Given the description of an element on the screen output the (x, y) to click on. 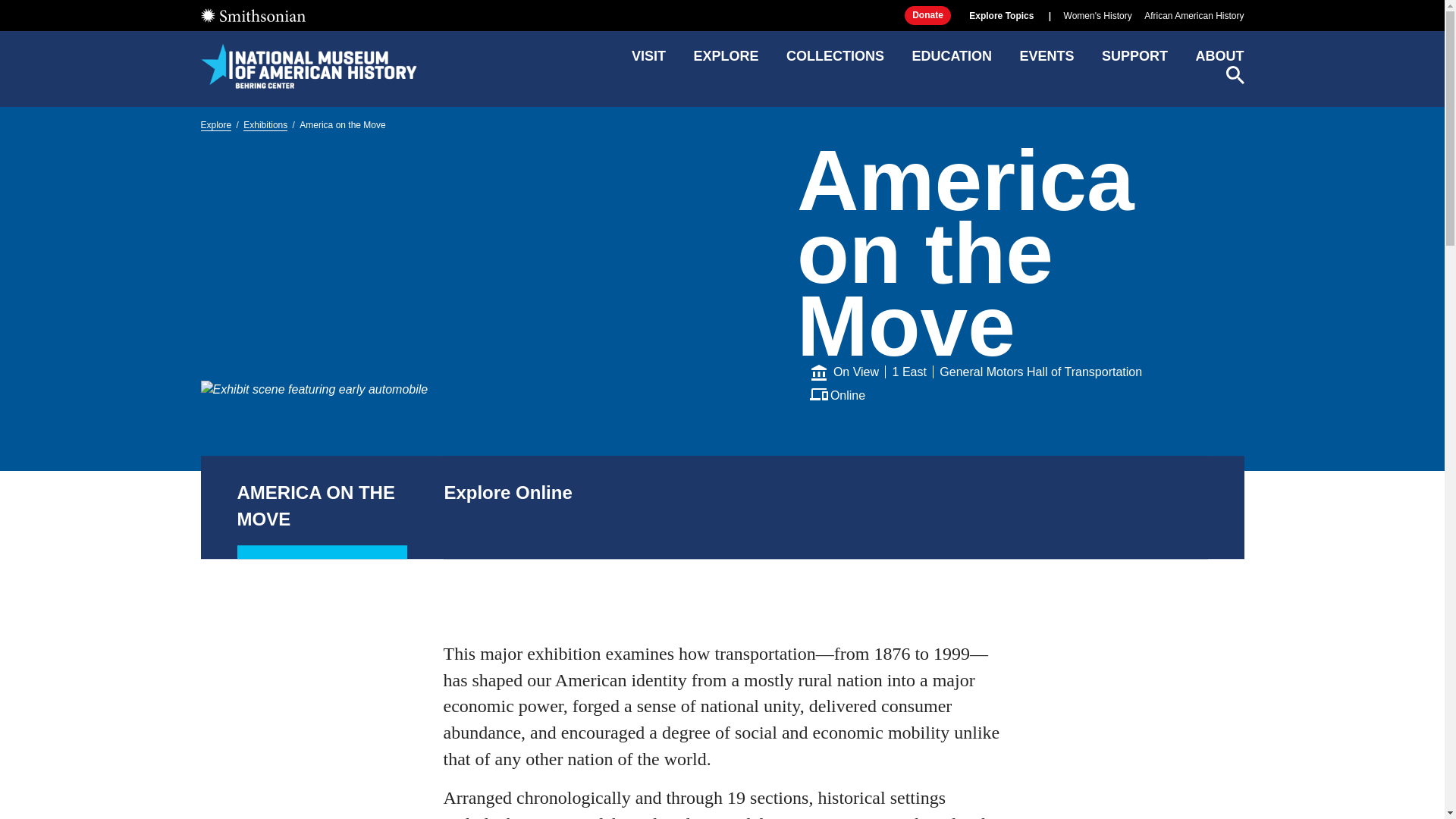
Explore (215, 125)
National Museum of American History (308, 65)
African American History (1193, 15)
Smithsonian (252, 15)
ABOUT (1219, 60)
EVENTS (1047, 60)
COLLECTIONS (834, 60)
Donate (927, 15)
Exhibitions (264, 125)
VISIT (648, 60)
AMERICA ON THE MOVE (321, 506)
Skip to main content (721, 12)
SEARCH (1234, 75)
EXPLORE (725, 60)
Women's History (1098, 15)
